Given the description of an element on the screen output the (x, y) to click on. 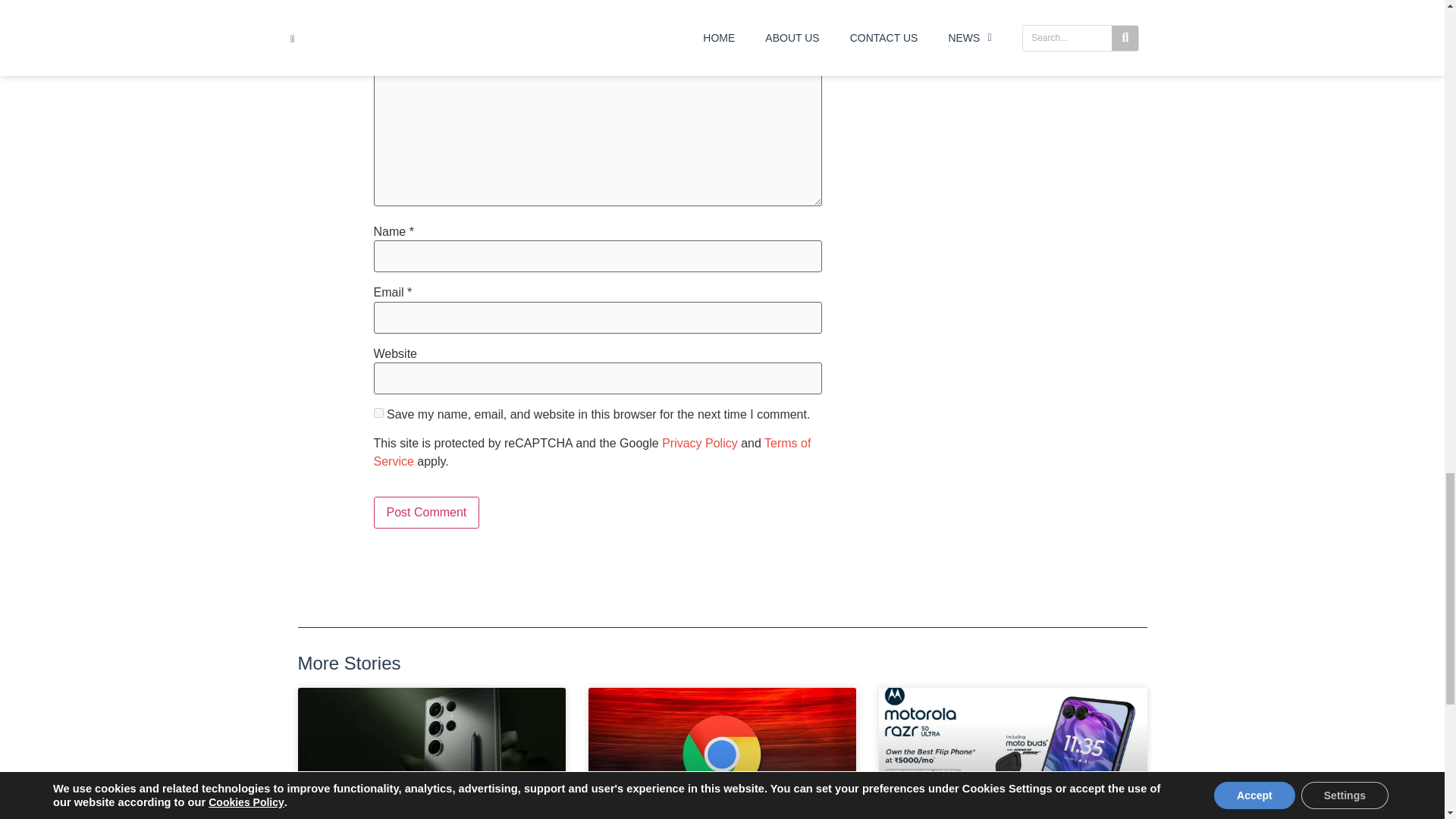
yes (377, 412)
Post Comment (425, 512)
